Given the description of an element on the screen output the (x, y) to click on. 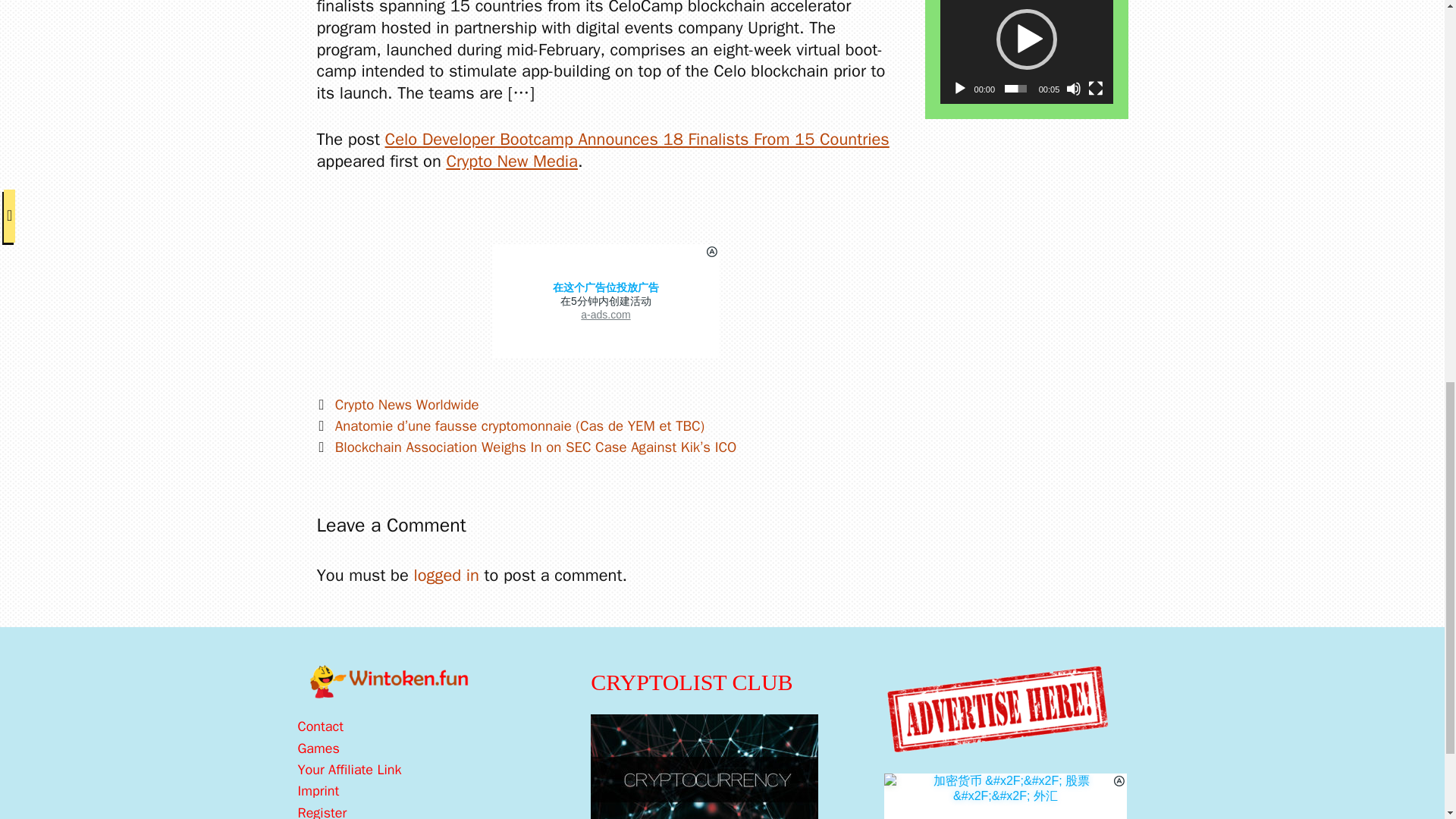
Crypto New Media (511, 160)
Play (960, 88)
Next (526, 447)
logged in (446, 575)
Previous (510, 425)
Mute (1073, 88)
Fullscreen (1095, 88)
Crypto News Worldwide (406, 404)
